Given the description of an element on the screen output the (x, y) to click on. 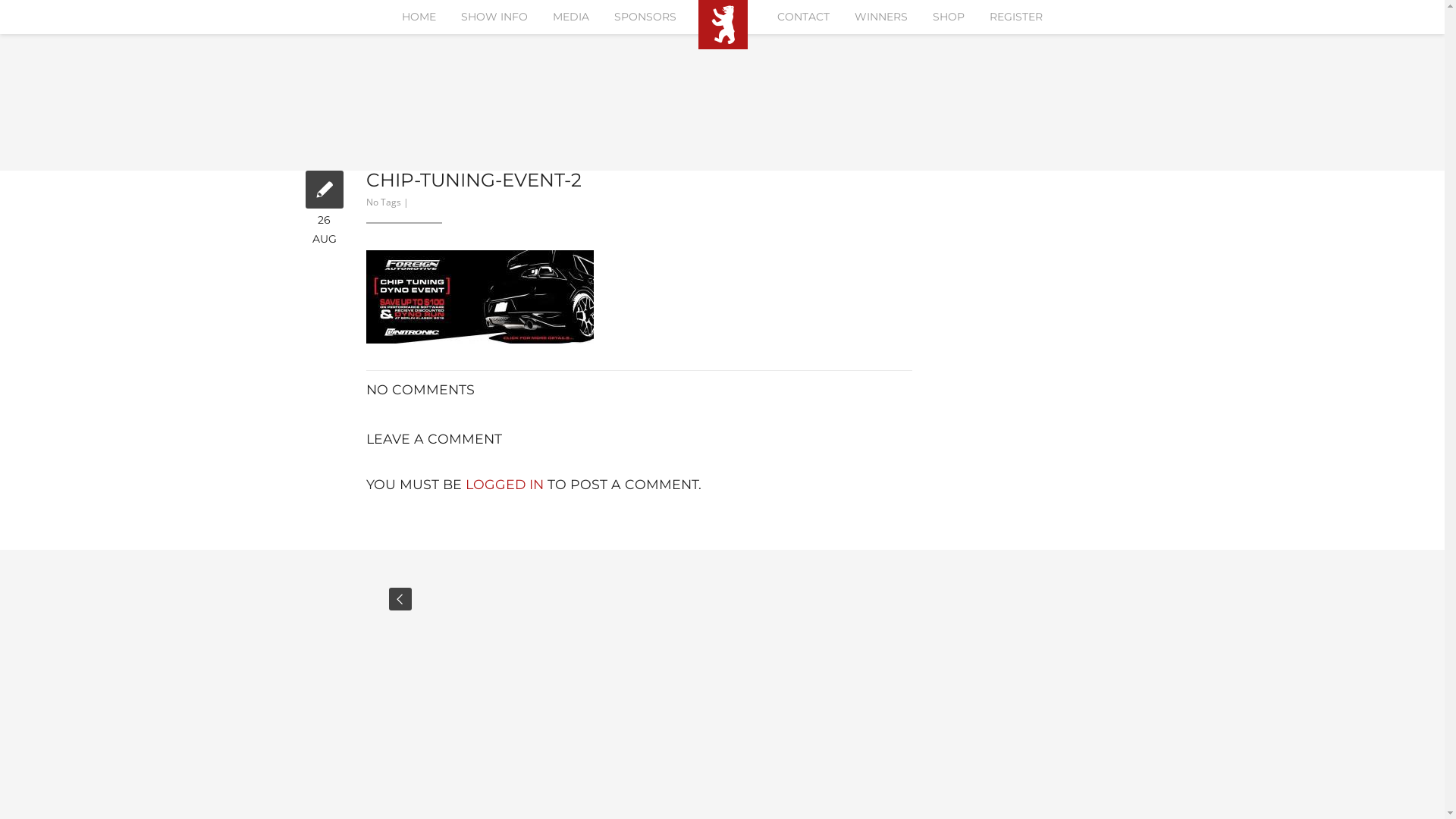
MEDIA Element type: text (570, 17)
SPONSORS Element type: text (644, 17)
SHOP Element type: text (948, 17)
SHOW INFO Element type: text (494, 17)
WINNERS Element type: text (881, 17)
LOGGED IN Element type: text (504, 484)
REGISTER Element type: text (1016, 17)
CONTACT Element type: text (802, 17)
HOME Element type: text (418, 17)
